Given the description of an element on the screen output the (x, y) to click on. 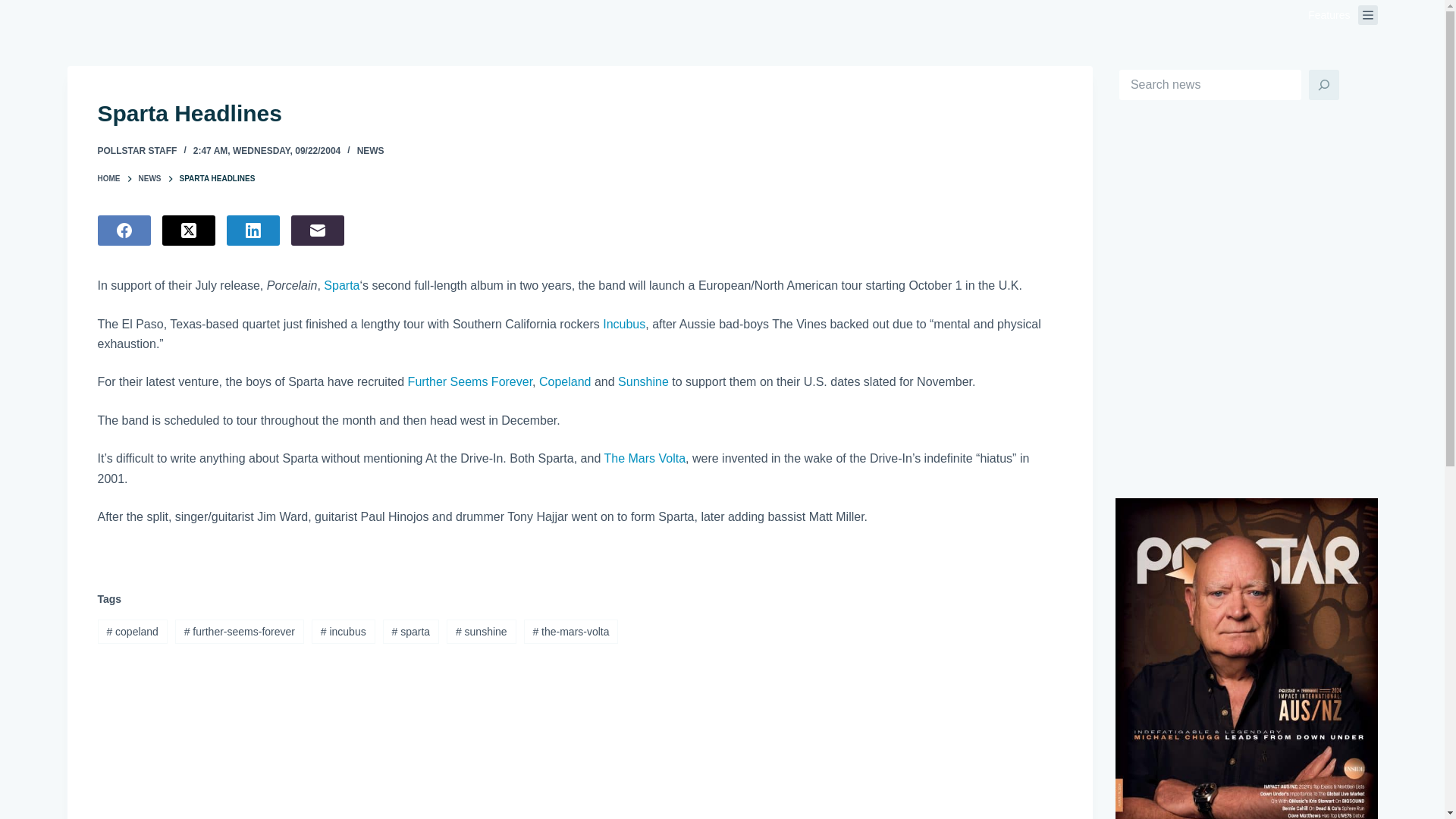
Posts by Pollstar Staff (136, 150)
Skip to content (15, 7)
Sparta Headlines (579, 113)
